Given the description of an element on the screen output the (x, y) to click on. 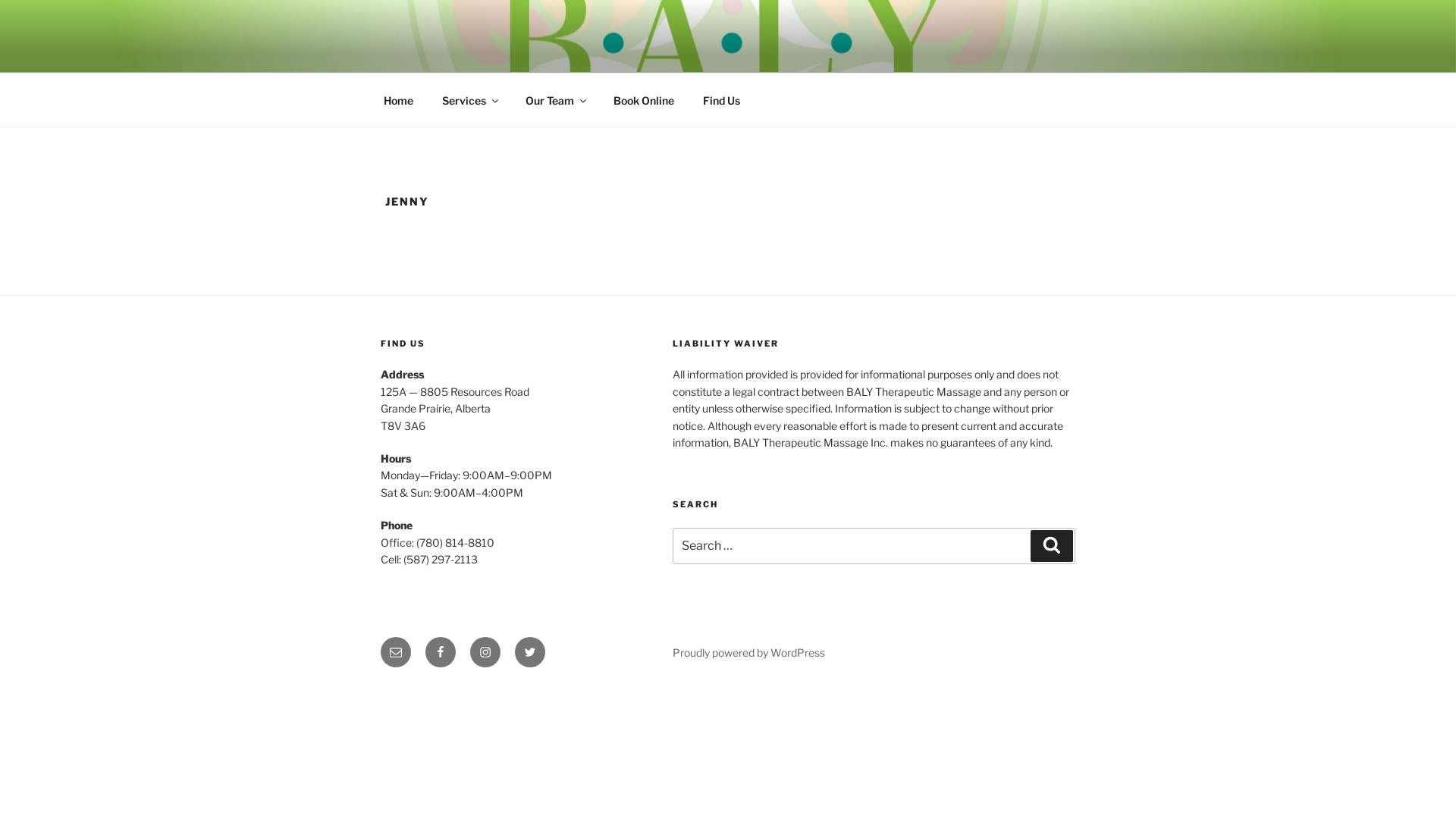
Book Online Element type: text (643, 100)
Services Element type: text (468, 100)
Proudly powered by WordPress Element type: text (748, 652)
Email Element type: text (395, 652)
Home Element type: text (398, 100)
Instagram Element type: text (485, 652)
Find Us Element type: text (721, 100)
Search Element type: text (1051, 545)
Twitter Element type: text (529, 652)
Facebook Element type: text (440, 652)
Our Team Element type: text (554, 100)
